Given the description of an element on the screen output the (x, y) to click on. 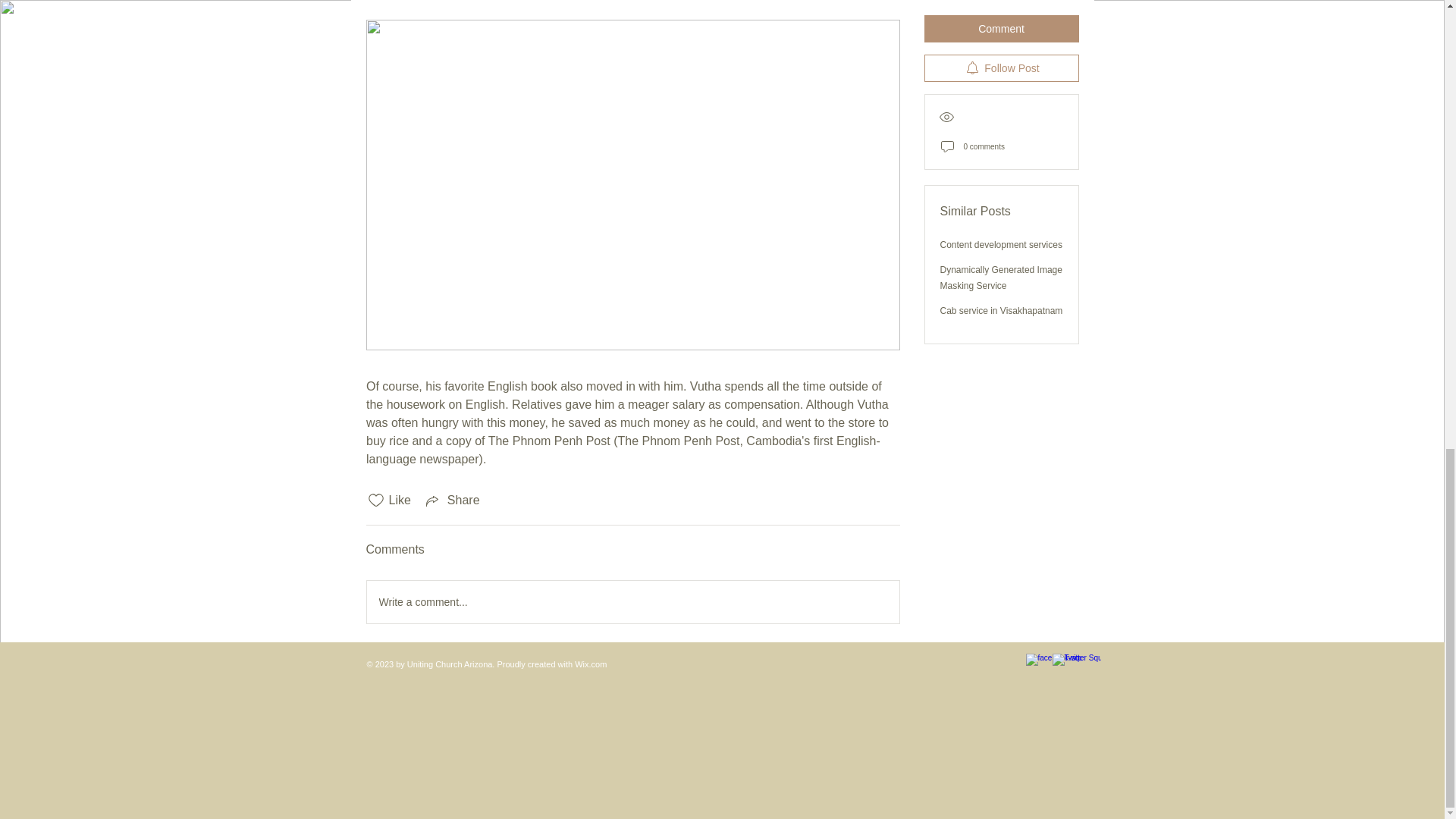
Write a comment... (632, 601)
Share (451, 500)
Wix.com (591, 664)
